Given the description of an element on the screen output the (x, y) to click on. 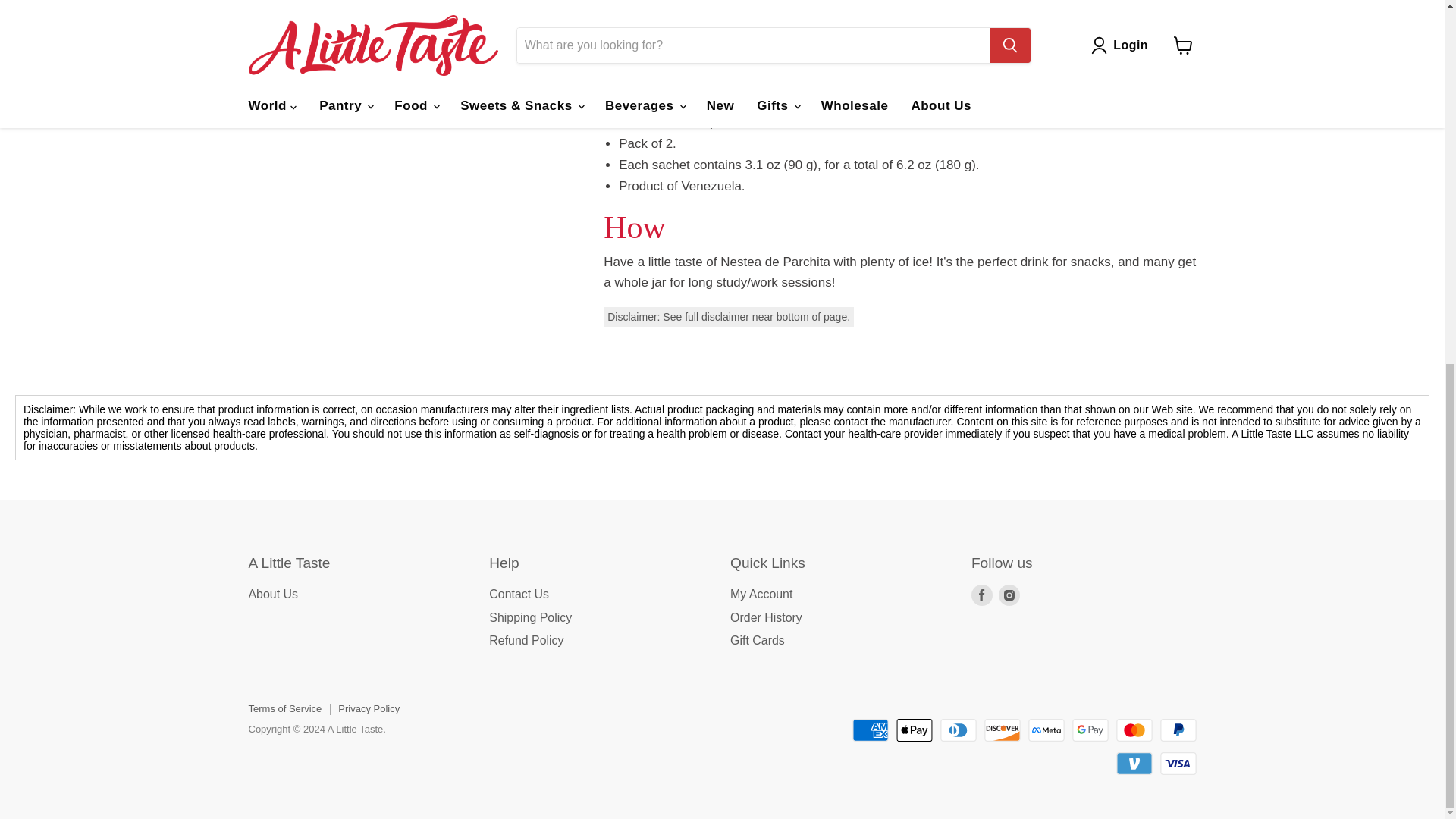
American Express (869, 730)
Instagram (1009, 595)
Meta Pay (1045, 730)
Apple Pay (914, 730)
Discover (1002, 730)
Google Pay (1089, 730)
Diners Club (958, 730)
Facebook (981, 595)
